Given the description of an element on the screen output the (x, y) to click on. 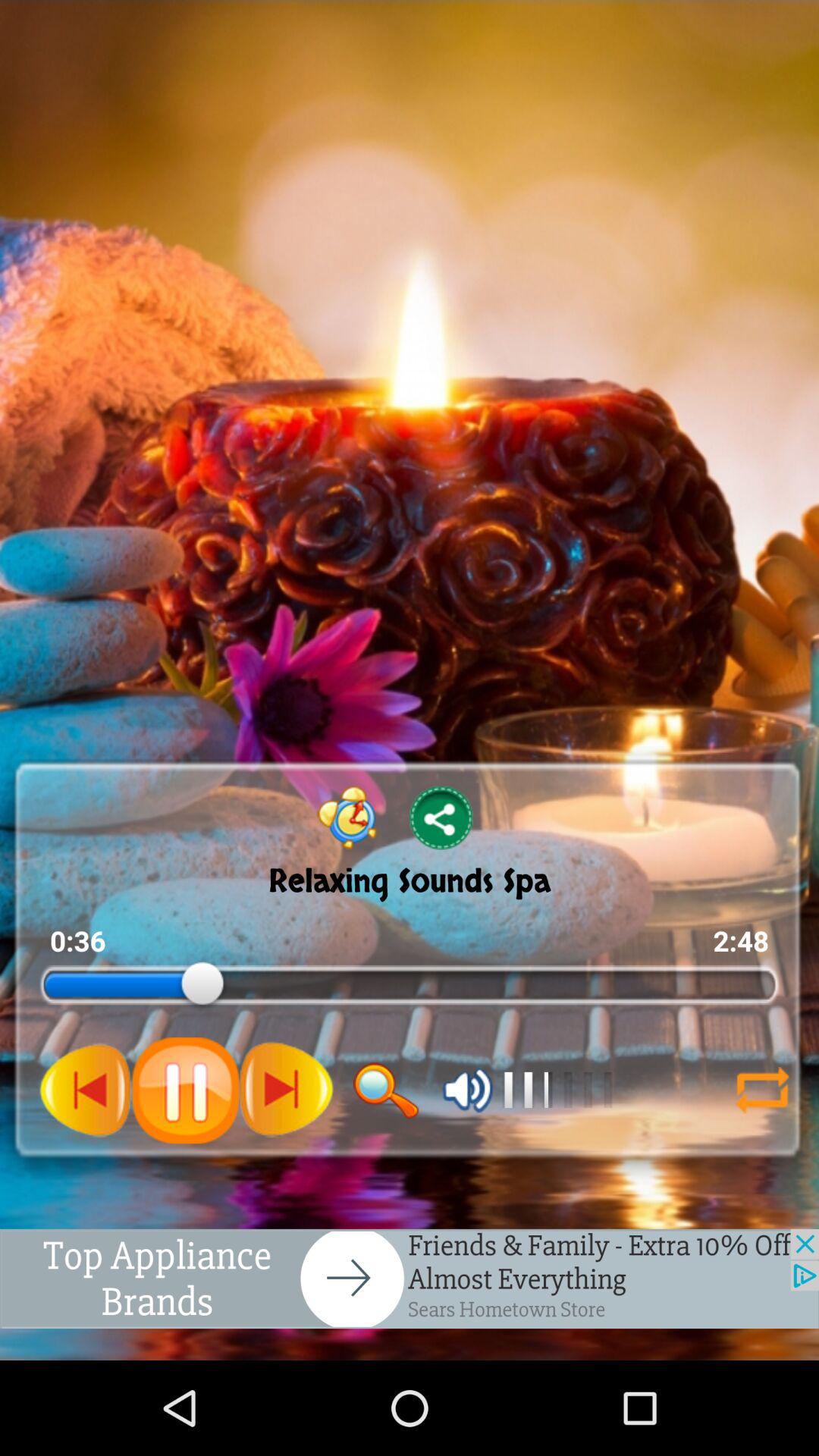
toggles the volume (467, 1089)
